Given the description of an element on the screen output the (x, y) to click on. 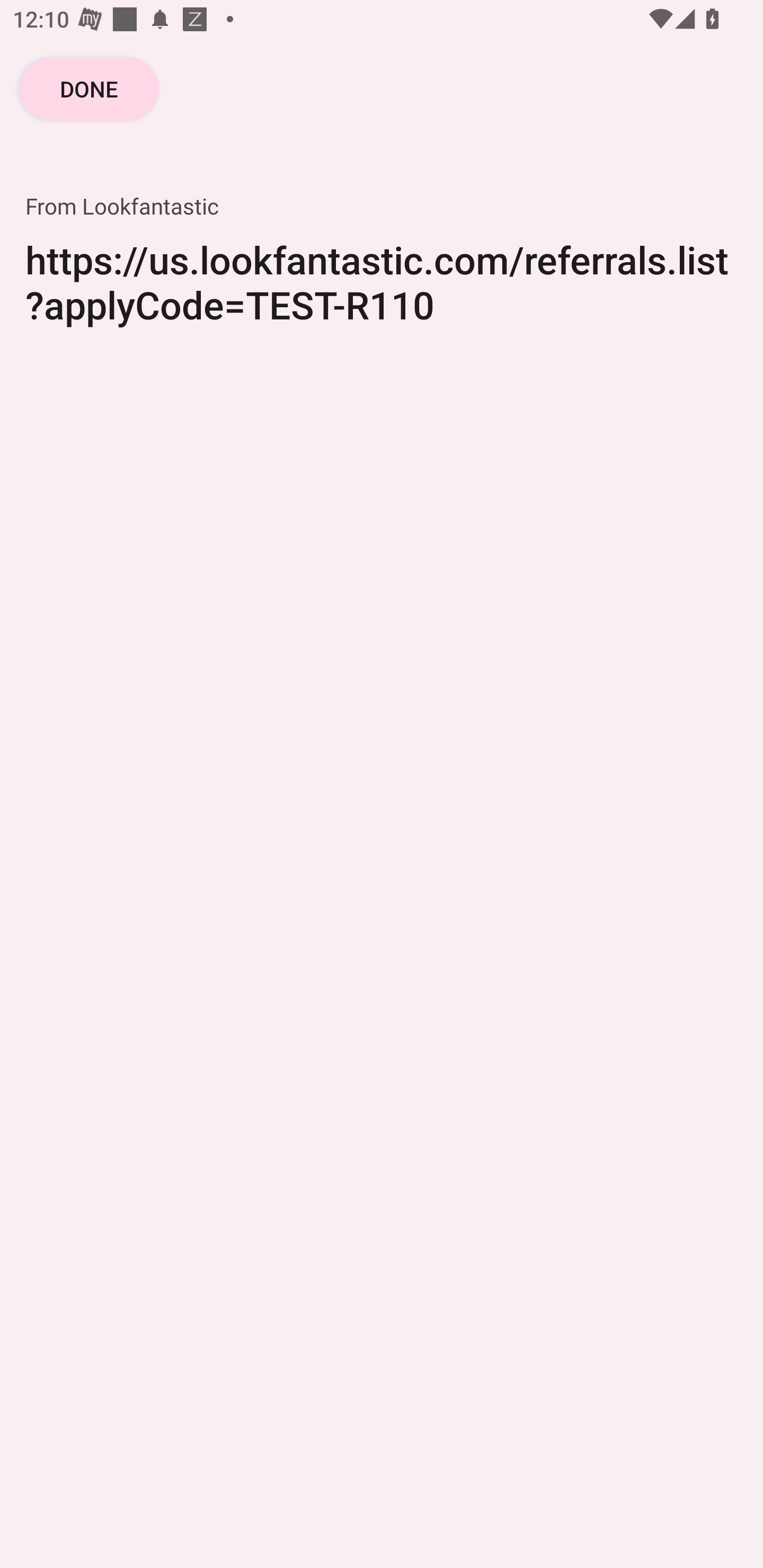
DONE (88, 88)
